Given the description of an element on the screen output the (x, y) to click on. 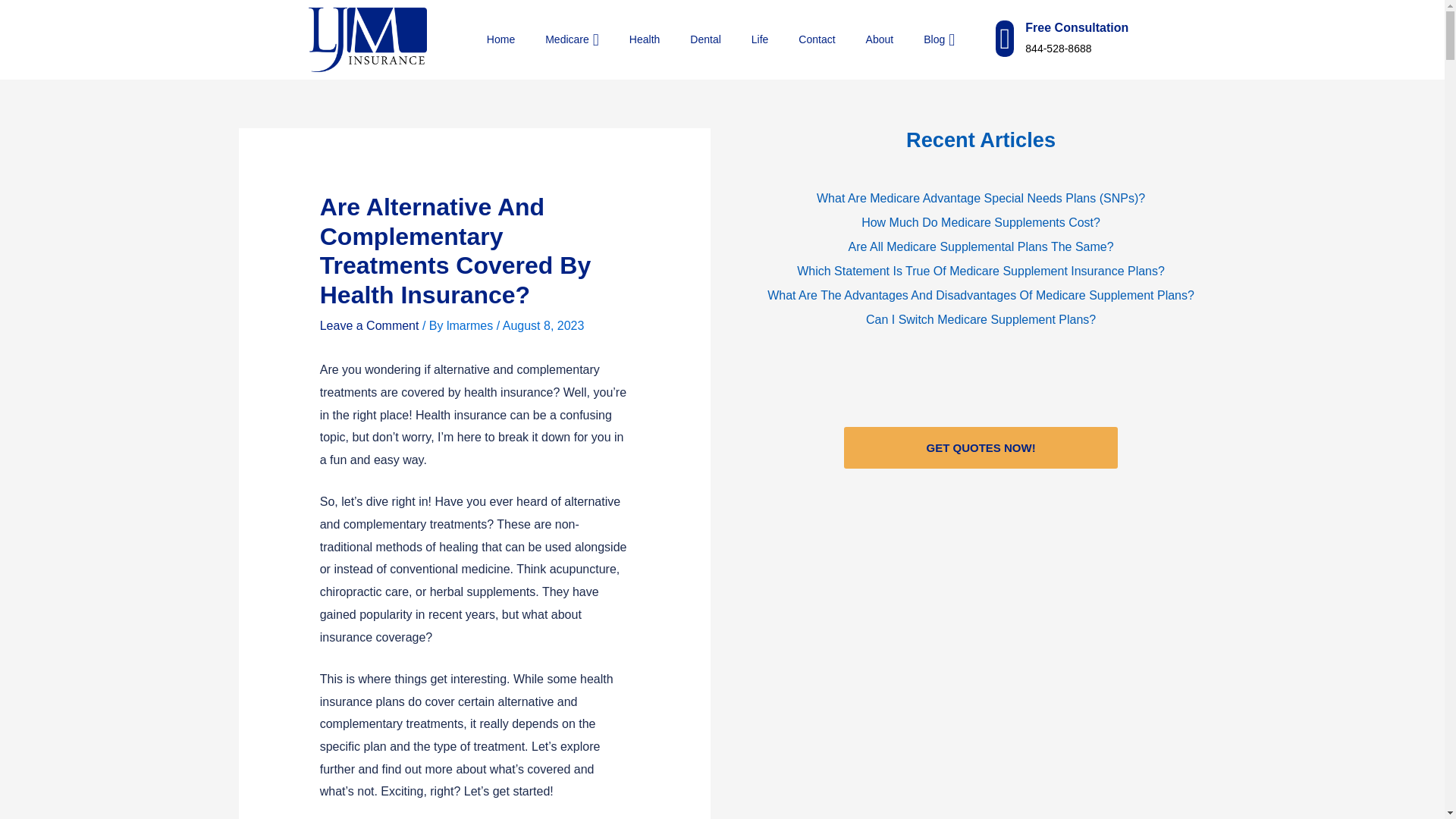
Medicare (556, 39)
How Much Do Medicare Supplements Cost? (980, 222)
GET QUOTES NOW! (981, 447)
Leave a Comment (369, 325)
Can I Switch Medicare Supplement Plans? (980, 319)
Are All Medicare Supplemental Plans The Same? (980, 247)
View all posts by lmarmes (471, 325)
lmarmes (471, 325)
